Given the description of an element on the screen output the (x, y) to click on. 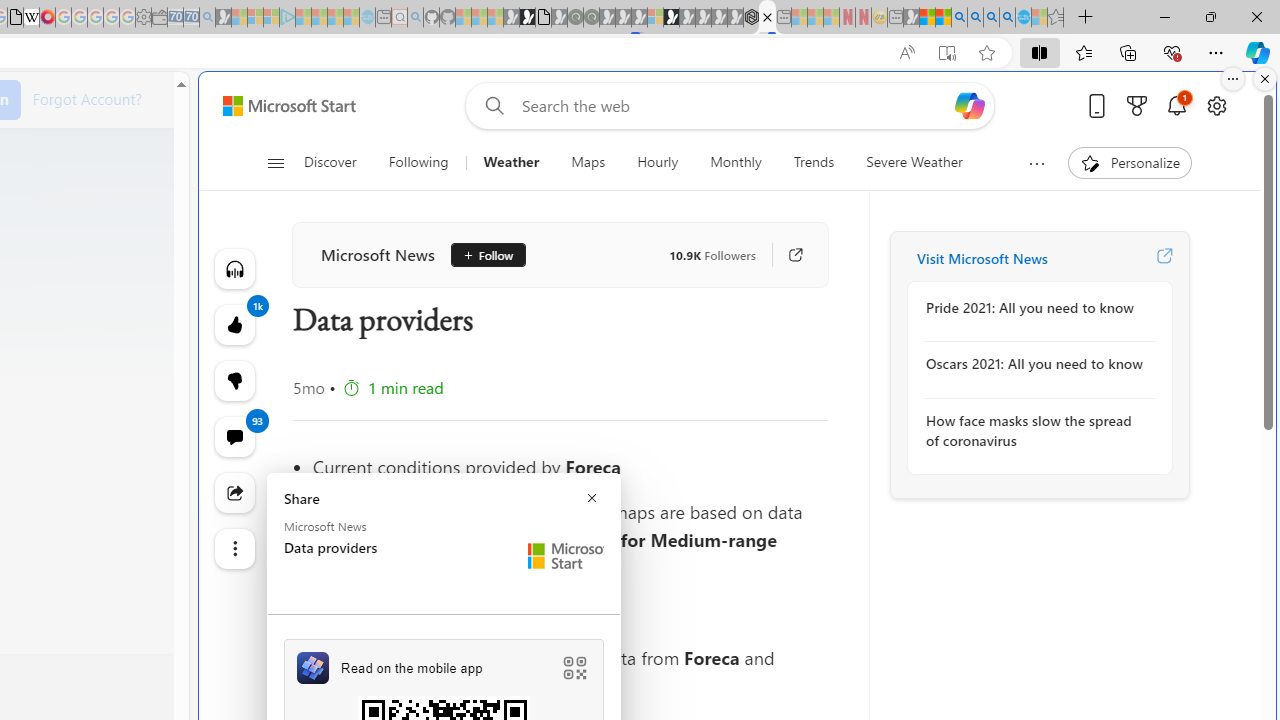
Microsoft Start Logo (565, 555)
Monthly (735, 162)
Pride 2021: All you need to know (1034, 308)
github - Search - Sleeping (415, 17)
Target page - Wikipedia (31, 17)
